Given the description of an element on the screen output the (x, y) to click on. 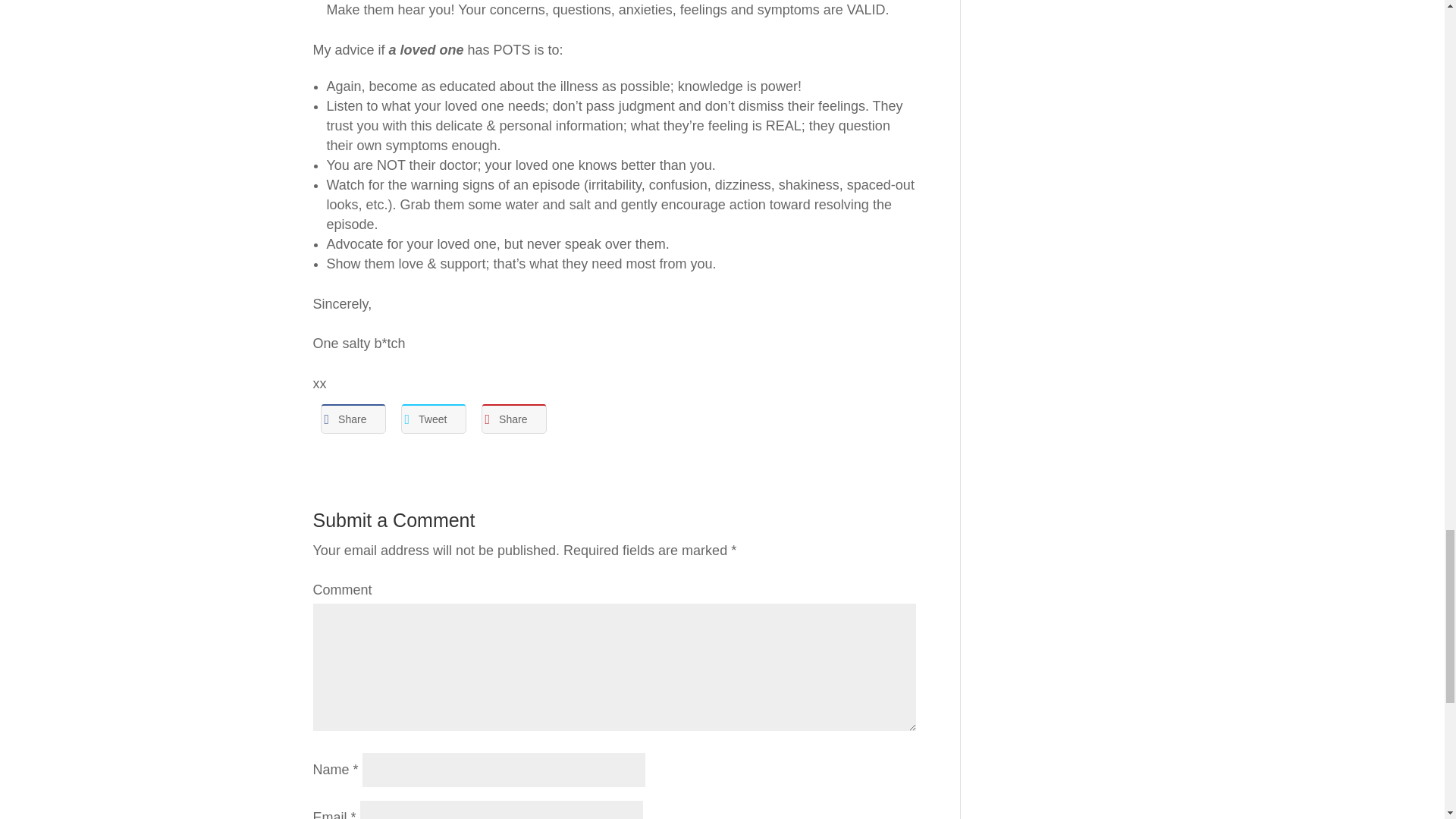
Share on Pinterest (513, 419)
Share (513, 419)
Share on Twitter (432, 419)
Share on Facebook (352, 419)
Tweet (432, 419)
Share (352, 419)
